Given the description of an element on the screen output the (x, y) to click on. 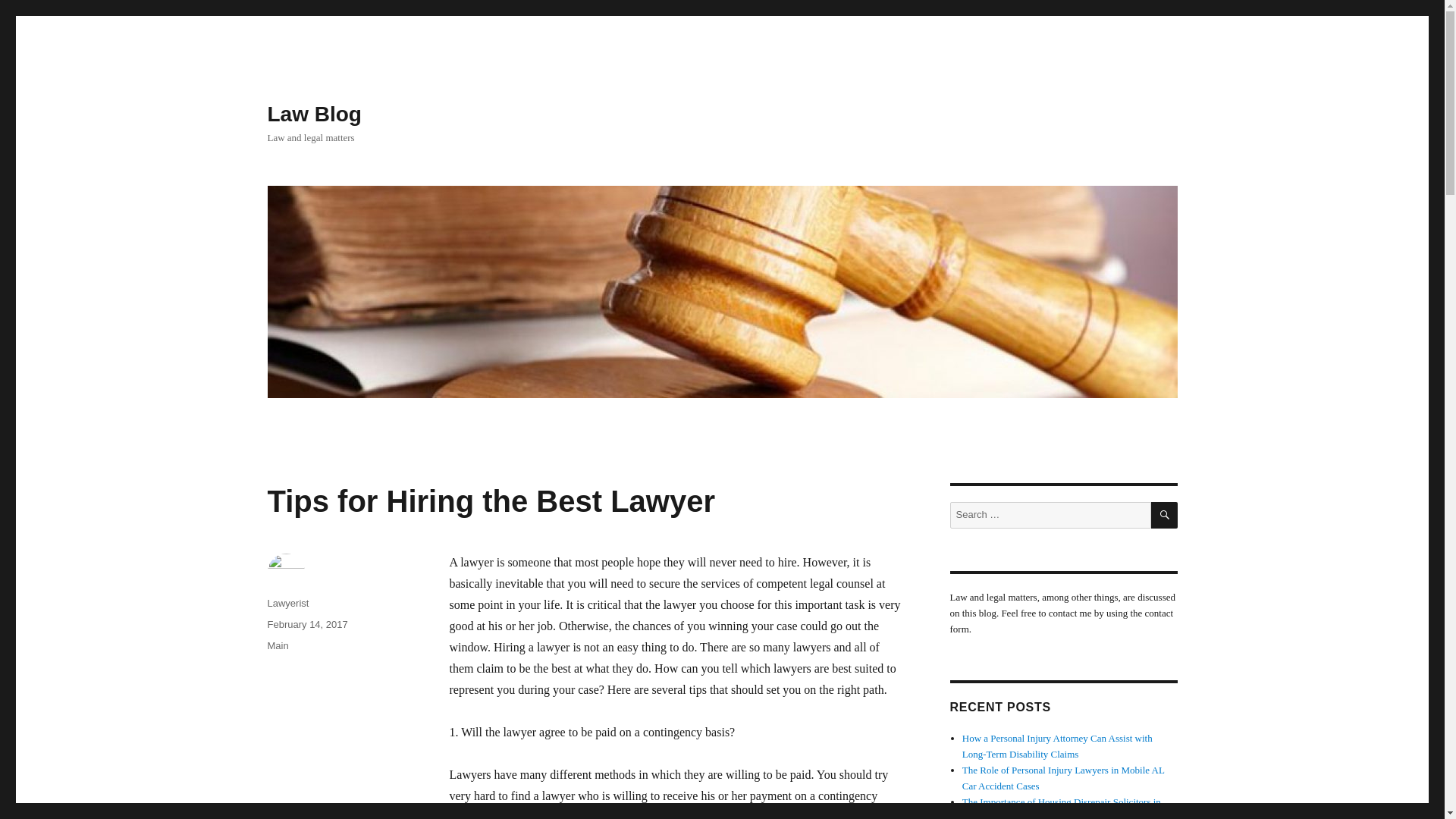
Lawyerist (287, 603)
Law Blog (313, 114)
February 14, 2017 (306, 624)
Main (277, 645)
SEARCH (1164, 515)
